Given the description of an element on the screen output the (x, y) to click on. 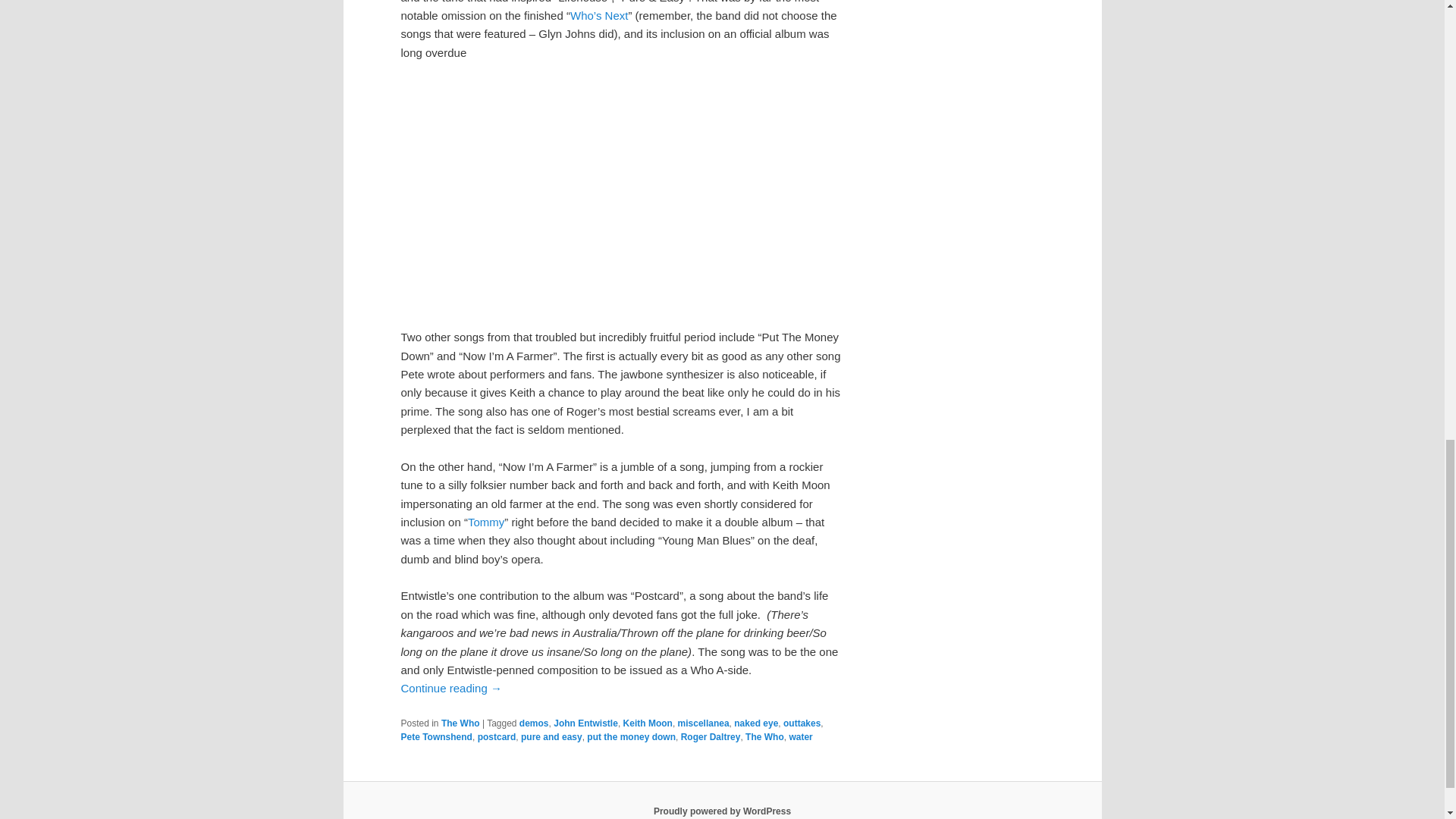
demos (533, 723)
John Entwistle (585, 723)
water (800, 737)
Roger Daltrey (711, 737)
Tommy (485, 521)
postcard (496, 737)
miscellanea (703, 723)
Keith Moon (647, 723)
Semantic Personal Publishing Platform (721, 810)
naked eye (755, 723)
Pete Townshend (435, 737)
put the money down (630, 737)
pure and easy (551, 737)
The Who (460, 723)
Proudly powered by WordPress (721, 810)
